Given the description of an element on the screen output the (x, y) to click on. 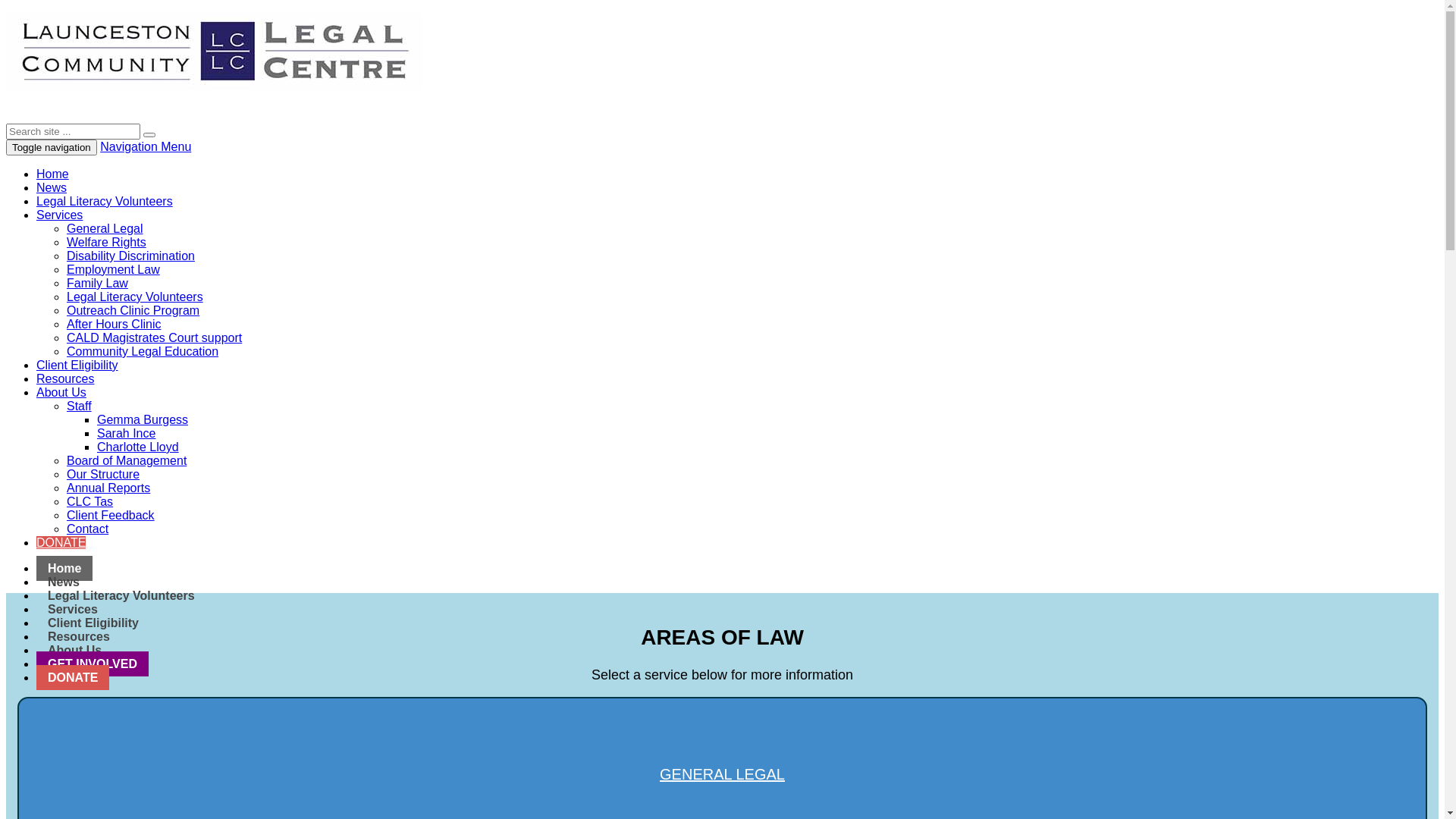
Resources Element type: text (65, 378)
Legal Literacy Volunteers Element type: text (134, 296)
Legal Literacy Volunteers Element type: text (104, 200)
sisea.search Element type: text (149, 134)
Board of Management Element type: text (126, 460)
About Us Element type: text (61, 391)
GET INVOLVED Element type: text (92, 663)
After Hours Clinic Element type: text (113, 323)
News Element type: text (63, 581)
Resources Element type: text (78, 636)
Contact Element type: text (87, 528)
Outreach Clinic Program Element type: text (132, 310)
Services Element type: text (59, 214)
Employment Law Element type: text (113, 269)
Family Law Element type: text (97, 282)
Client Eligibility Element type: text (77, 364)
News Element type: text (51, 187)
DONATE Element type: text (72, 677)
Gemma Burgess Element type: text (142, 419)
Client Feedback Element type: text (110, 514)
CALD Magistrates Court support Element type: text (153, 337)
Client Eligibility Element type: text (93, 622)
About Us Element type: text (74, 649)
Home Element type: text (64, 567)
Home Element type: text (52, 173)
Community Legal Education Element type: text (142, 351)
Annual Reports Element type: text (108, 487)
CLC Tas Element type: text (89, 501)
Services Element type: text (72, 608)
Welfare Rights Element type: text (106, 241)
Disability Discrimination Element type: text (130, 255)
Sarah Ince Element type: text (126, 432)
Legal Literacy Volunteers Element type: text (121, 595)
Staff Element type: text (78, 405)
DONATE Element type: text (60, 542)
Navigation Menu Element type: text (145, 146)
General Legal Element type: text (104, 228)
Charlotte Lloyd Element type: text (137, 446)
Our Structure Element type: text (102, 473)
Toggle navigation Element type: text (51, 147)
